Given the description of an element on the screen output the (x, y) to click on. 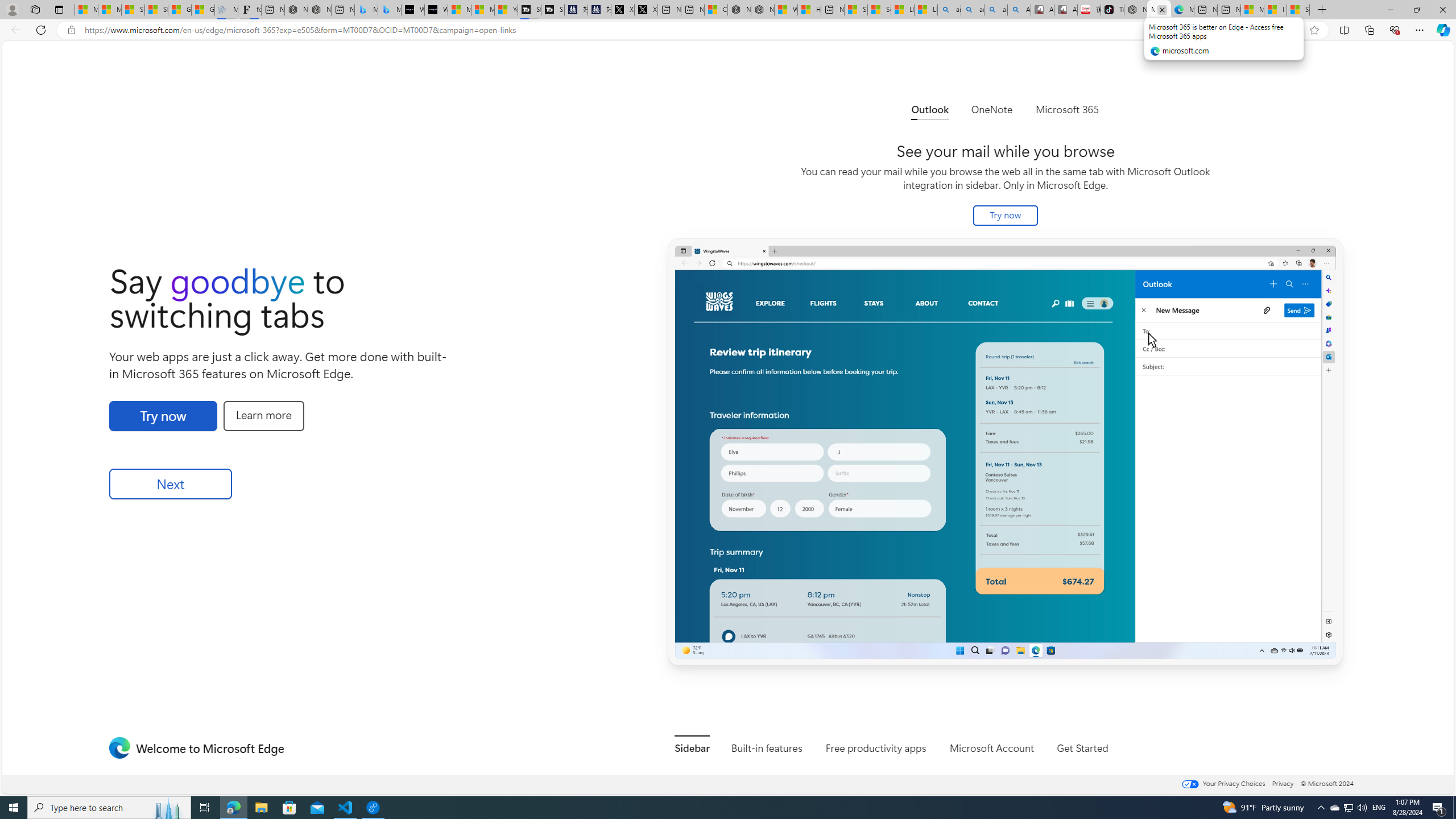
Microsoft Bing Travel - Shangri-La Hotel Bangkok (389, 9)
Gilma and Hector both pose tropical trouble for Hawaii (202, 9)
